Given the description of an element on the screen output the (x, y) to click on. 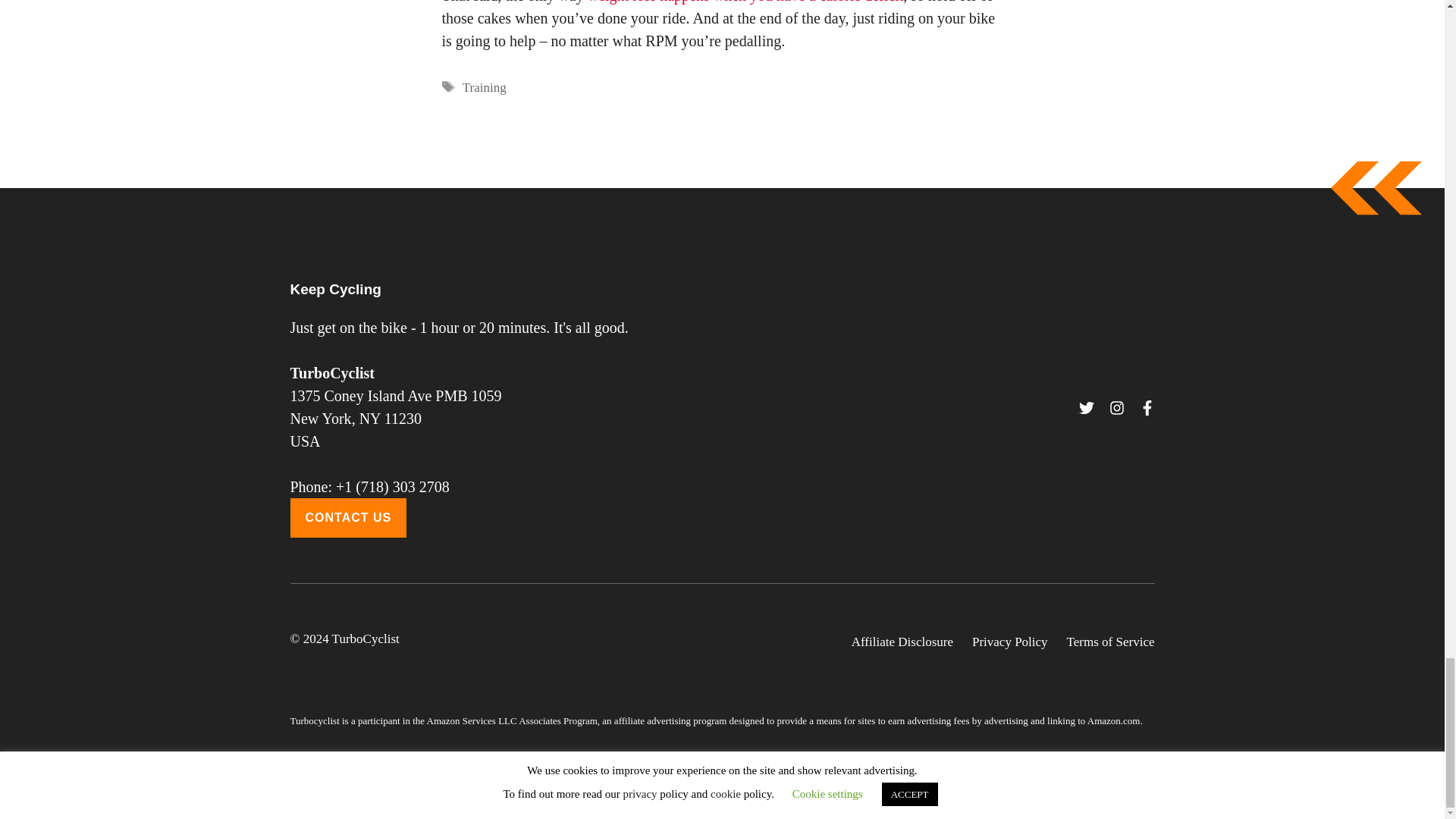
Terms of Service (1110, 641)
weight loss happens when you have a calorie deficit (746, 2)
CONTACT US (347, 517)
Training (484, 87)
Privacy Policy (1010, 641)
Affiliate Disclosure (902, 641)
